Given the description of an element on the screen output the (x, y) to click on. 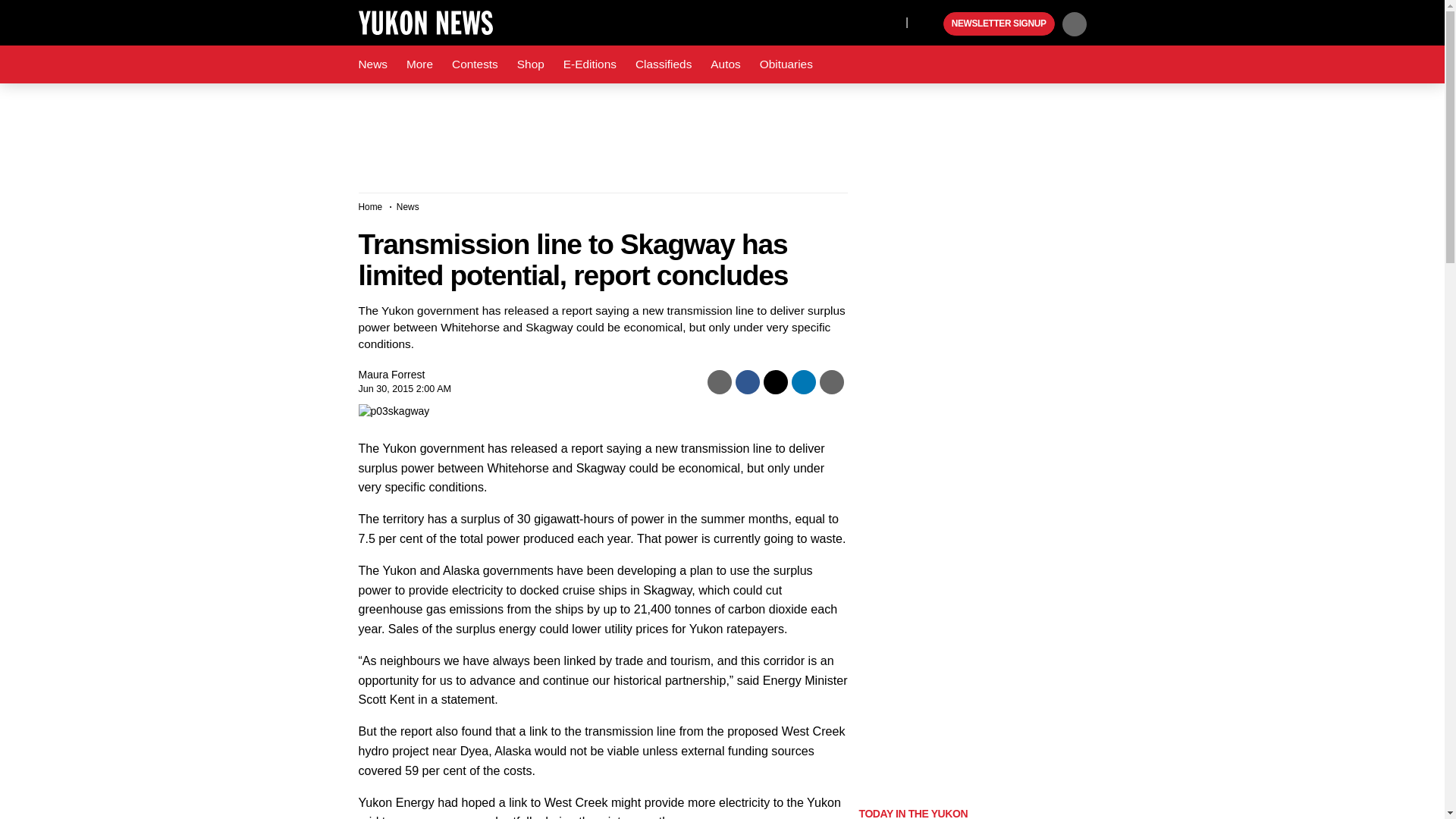
X (889, 21)
Play (929, 24)
News (372, 64)
NEWSLETTER SIGNUP (998, 24)
Black Press Media (929, 24)
